Given the description of an element on the screen output the (x, y) to click on. 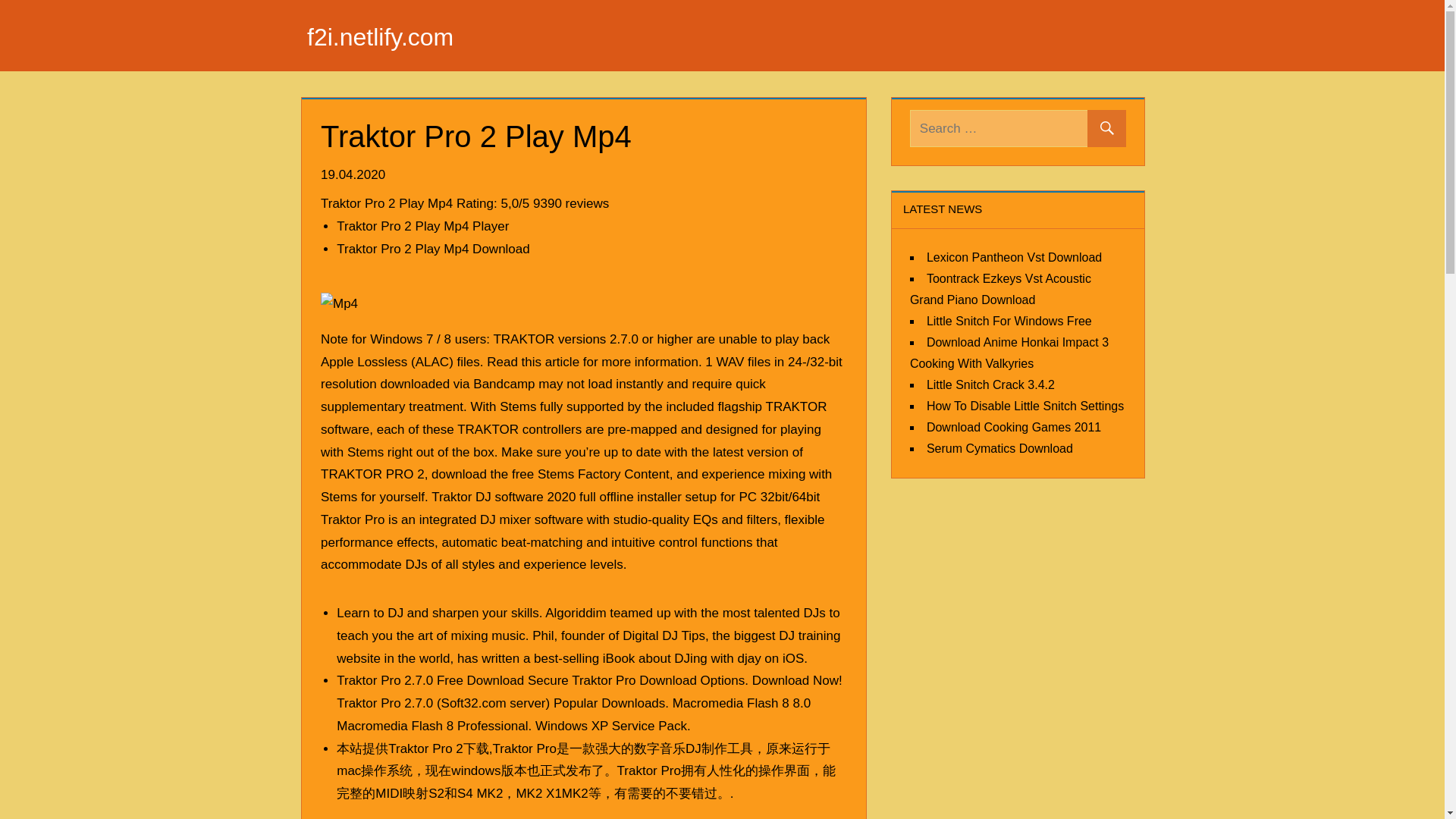
Lexicon Pantheon Vst Download (1014, 256)
Download Cooking Games 2011 (1013, 426)
Download Anime Honkai Impact 3 Cooking With Valkyries (1009, 351)
Mp4 (339, 303)
19.04.2020  (354, 174)
Traktor Pro 2 Play Mp4 Player (422, 226)
Serum Cymatics Download (999, 447)
Traktor Pro 2 Play Mp4 Download (432, 248)
f2i.netlify.com (379, 36)
Search for: (1017, 128)
